Given the description of an element on the screen output the (x, y) to click on. 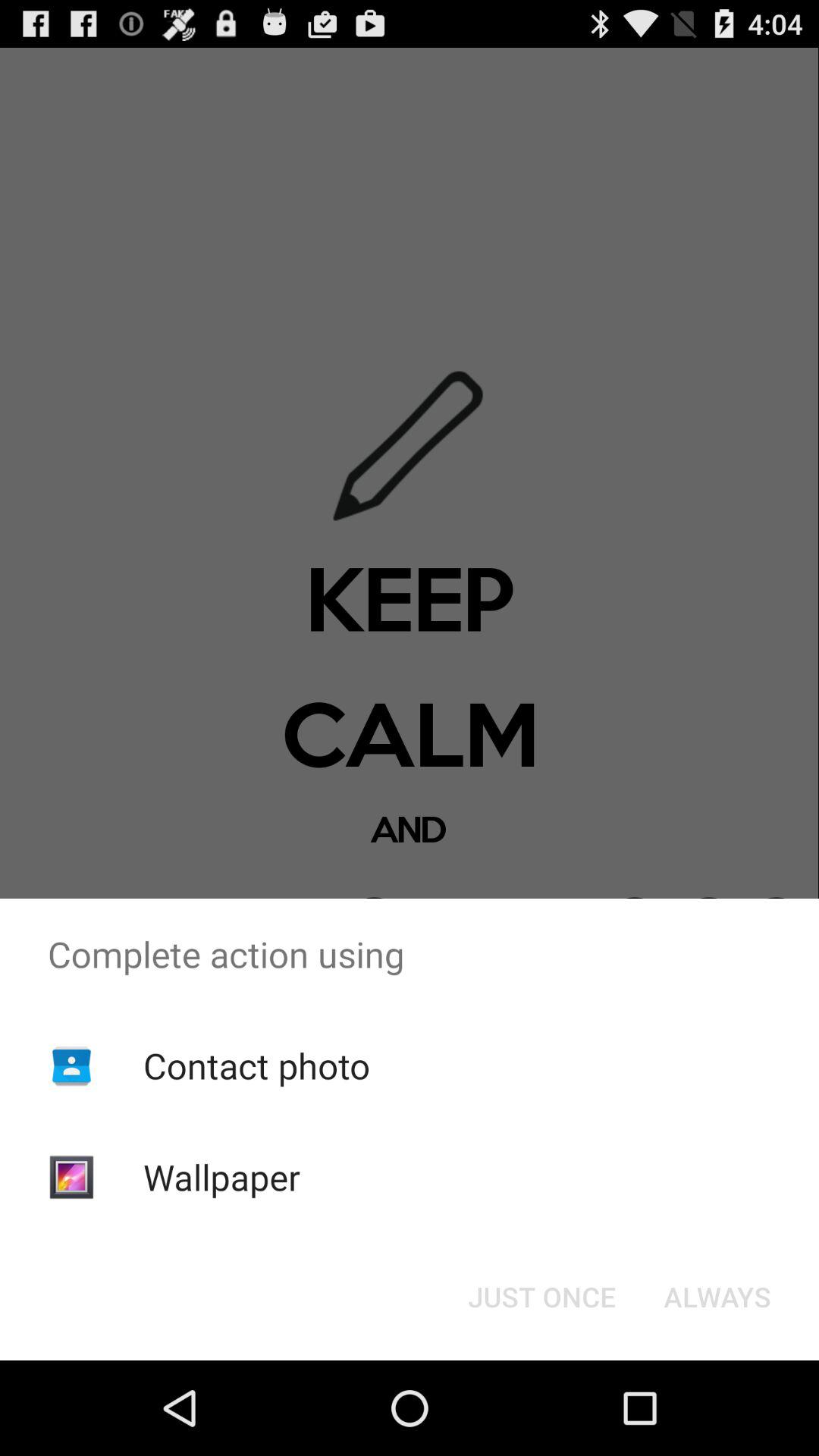
choose item to the right of just once (717, 1296)
